Given the description of an element on the screen output the (x, y) to click on. 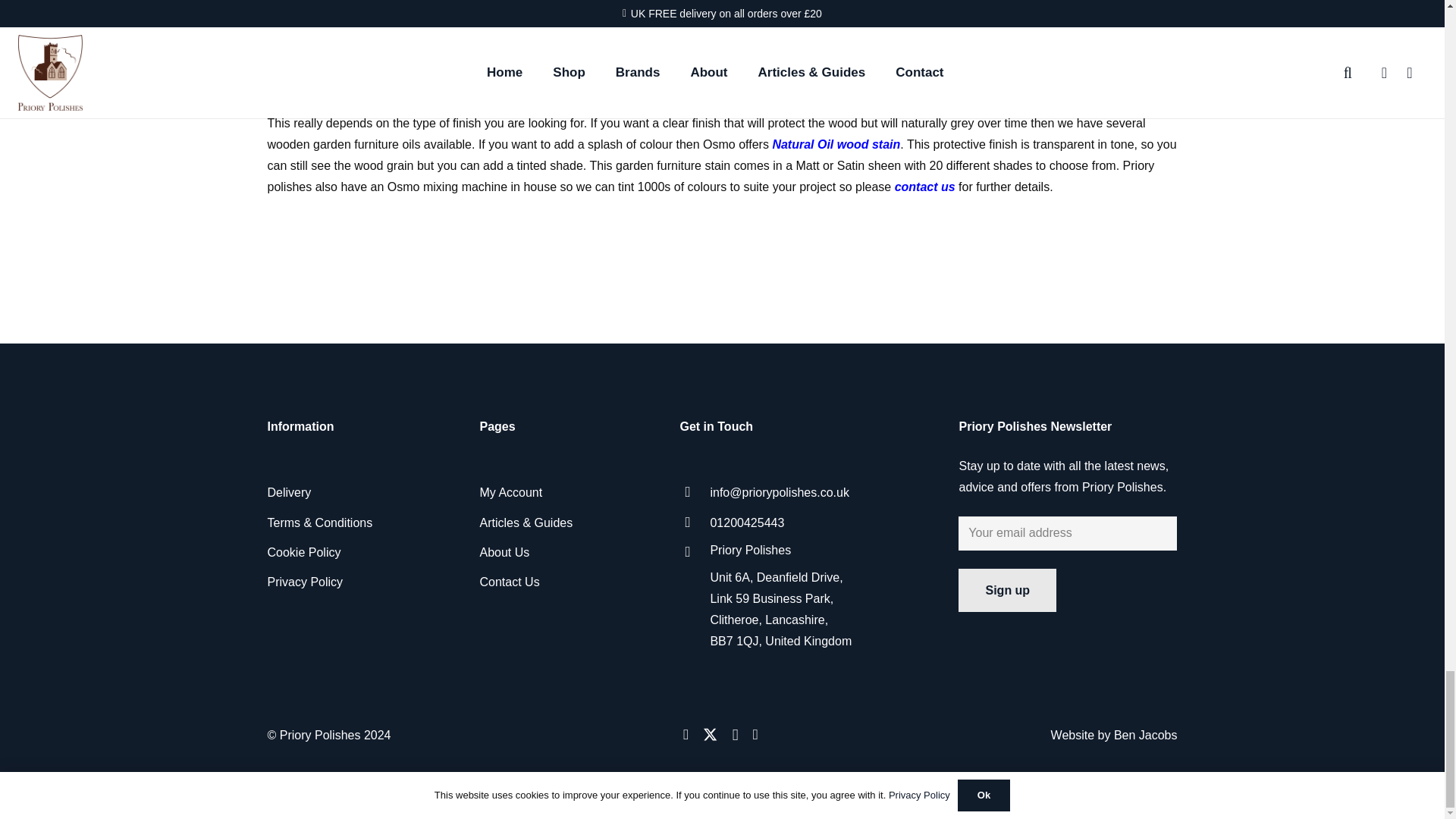
Instagram (735, 734)
Sign up (1007, 589)
Pinterest (755, 734)
Twitter (710, 734)
Facebook (685, 734)
